Given the description of an element on the screen output the (x, y) to click on. 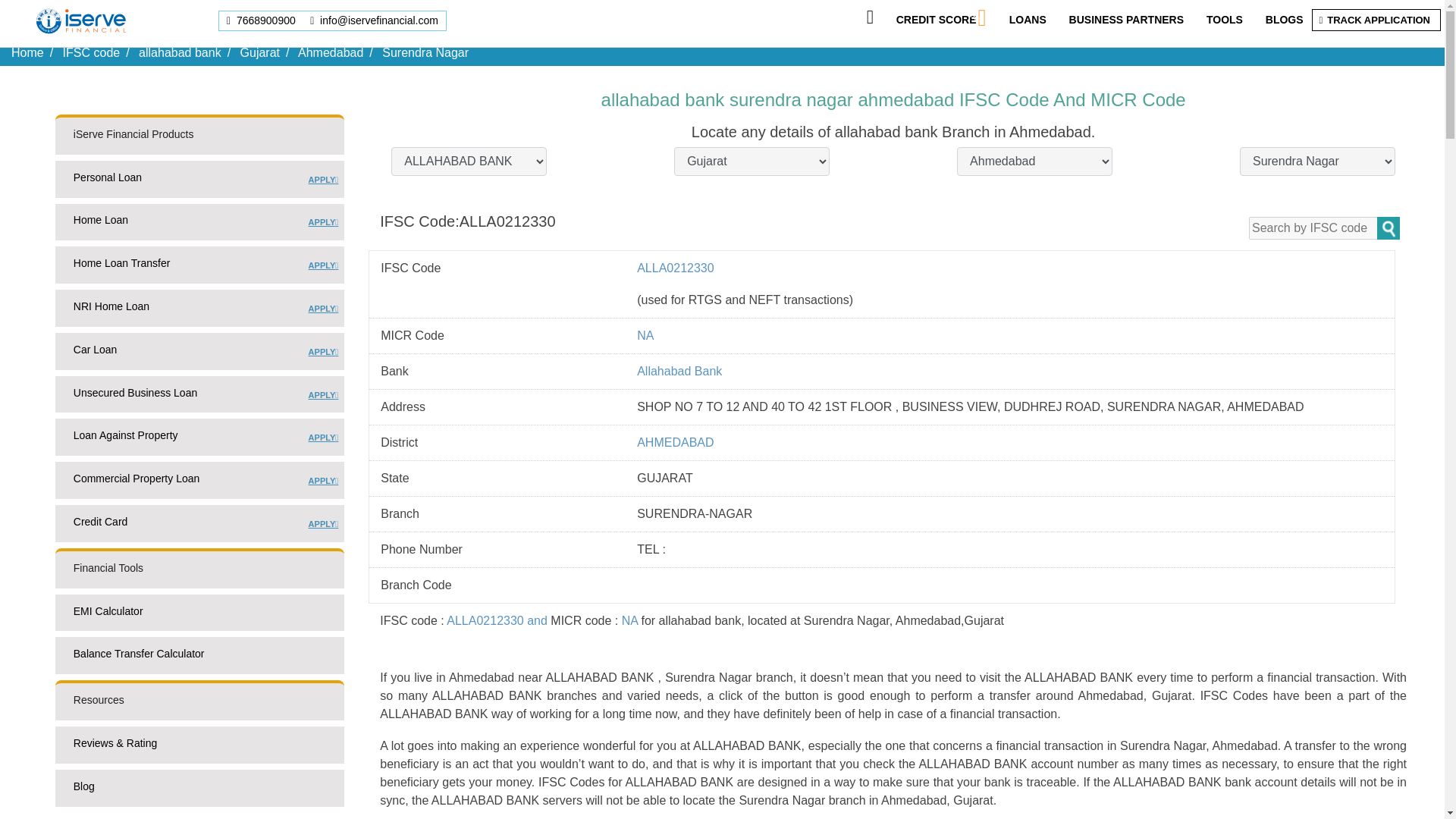
BUSINESS PARTNERS (1125, 19)
Ahmedabad (330, 51)
allahabad bank (179, 51)
Home (27, 51)
BLOGS (1284, 19)
 7668900900 (199, 225)
TRACK APPLICATION (262, 20)
Gujarat (1377, 19)
CREDIT SCORE (259, 51)
IFSC code (936, 19)
